Given the description of an element on the screen output the (x, y) to click on. 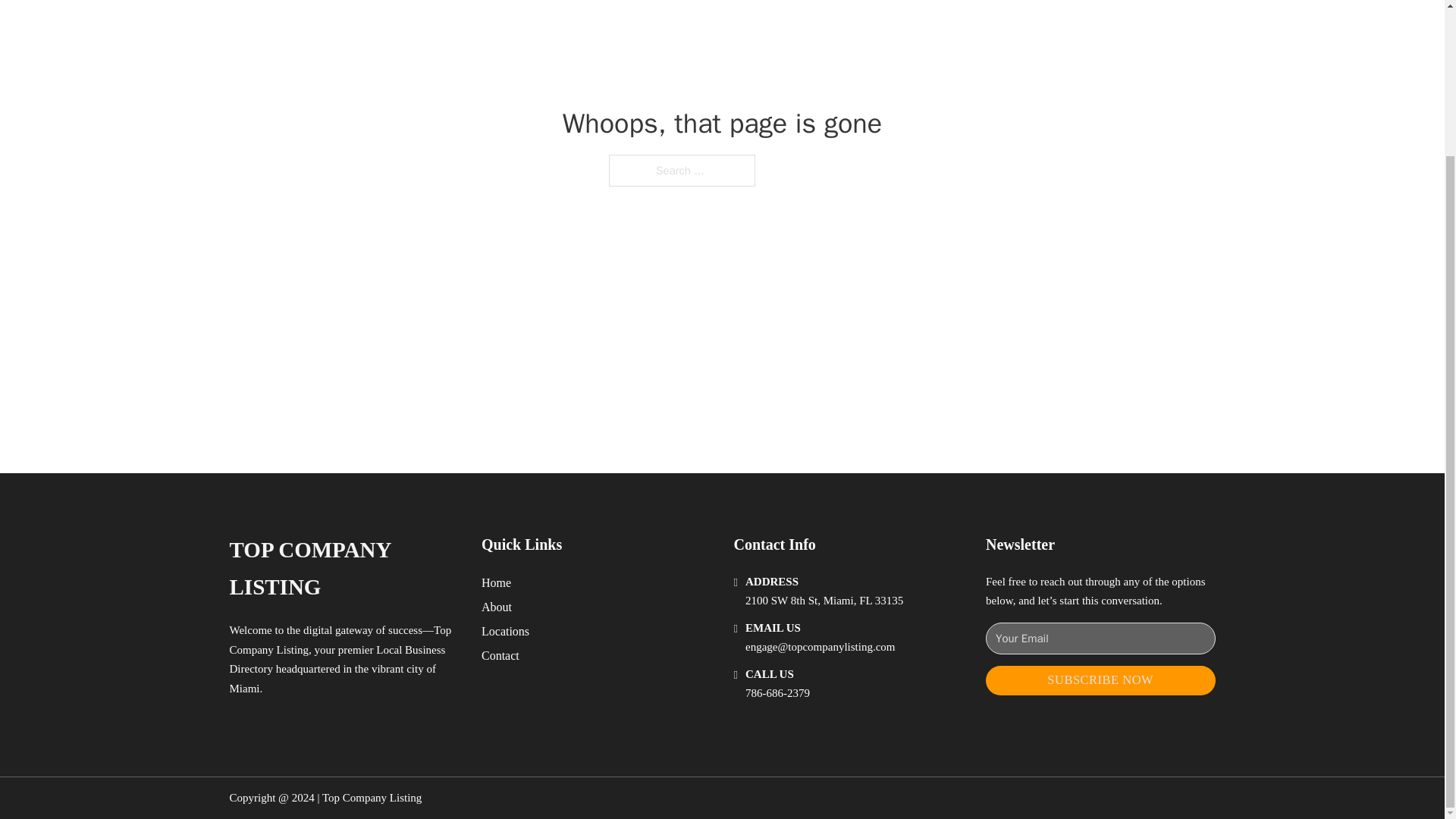
Home (496, 582)
Contact (500, 655)
786-686-2379 (777, 693)
SUBSCRIBE NOW (1100, 680)
About (496, 607)
Locations (505, 630)
TOP COMPANY LISTING (343, 568)
